Given the description of an element on the screen output the (x, y) to click on. 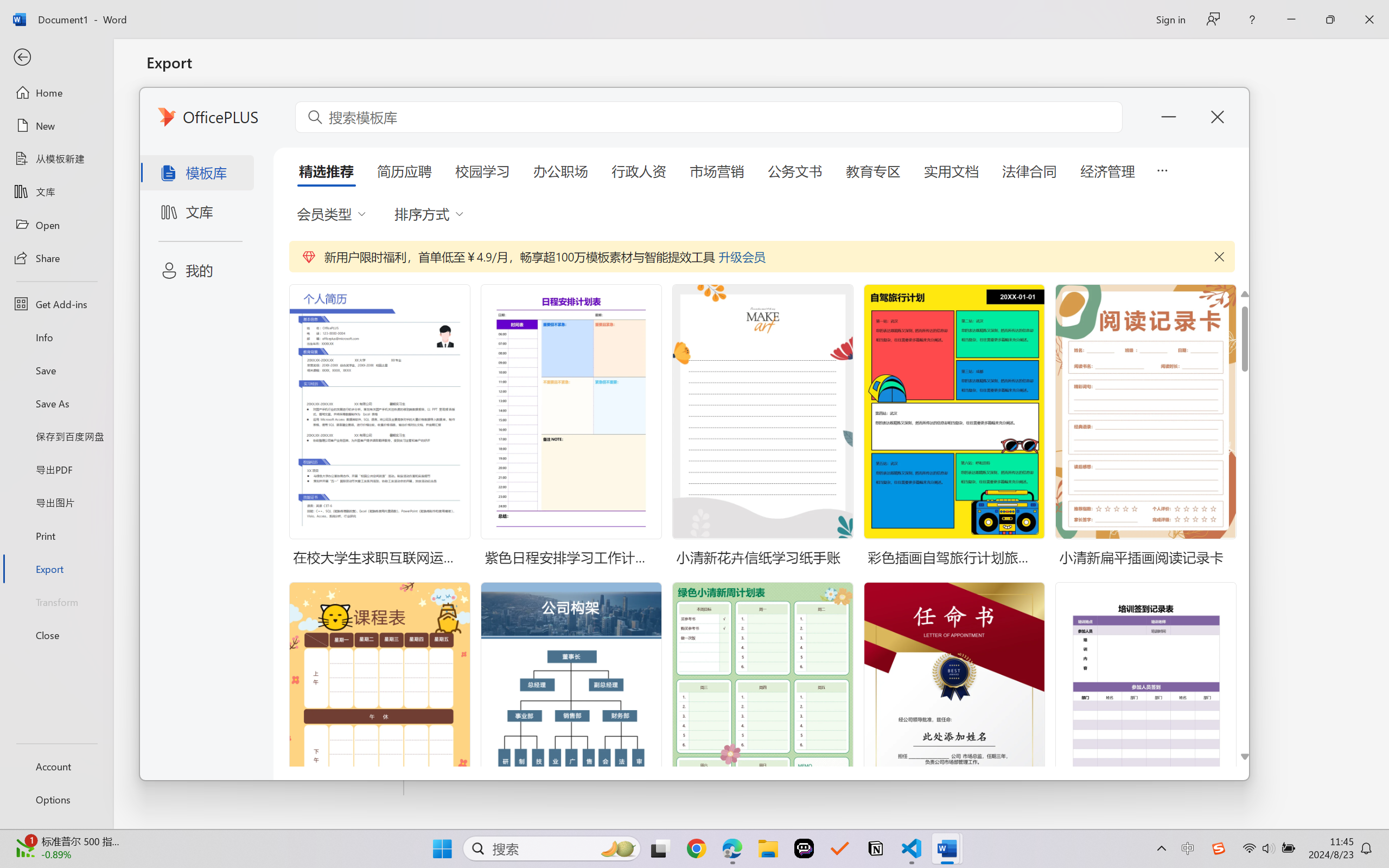
New (56, 125)
Export (56, 568)
